Given the description of an element on the screen output the (x, y) to click on. 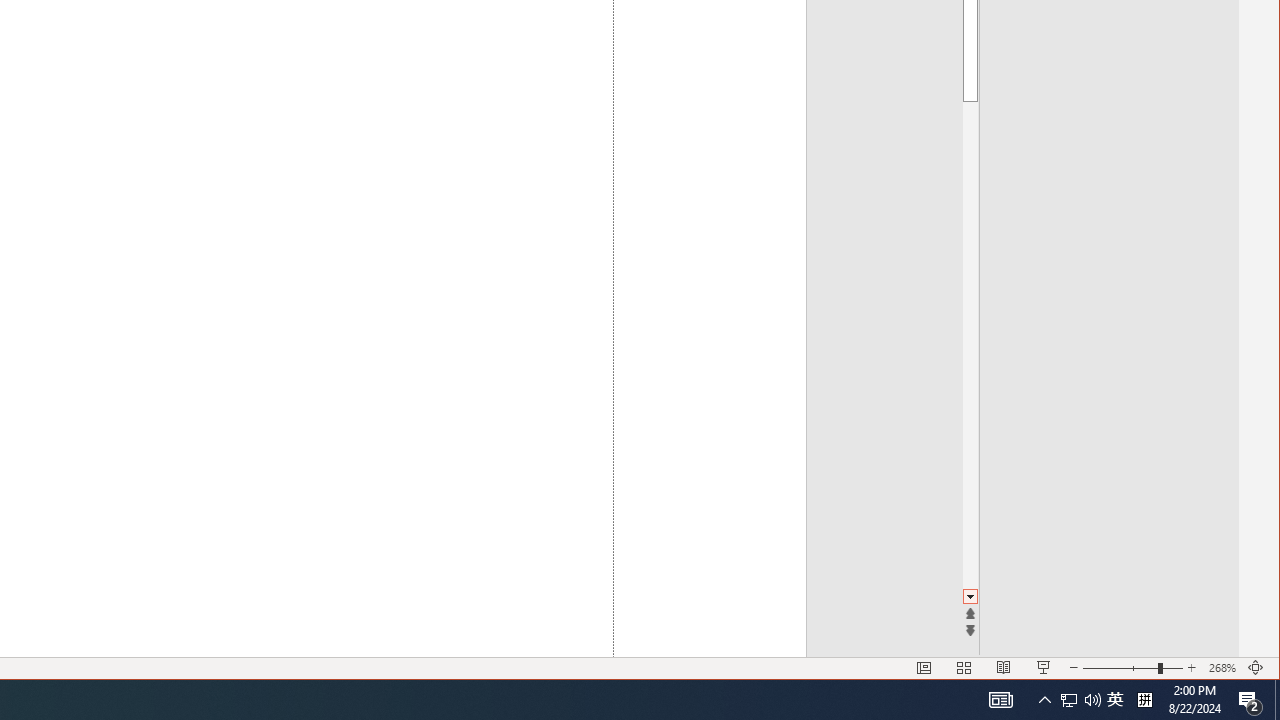
Zoom 268% (1222, 668)
